Given the description of an element on the screen output the (x, y) to click on. 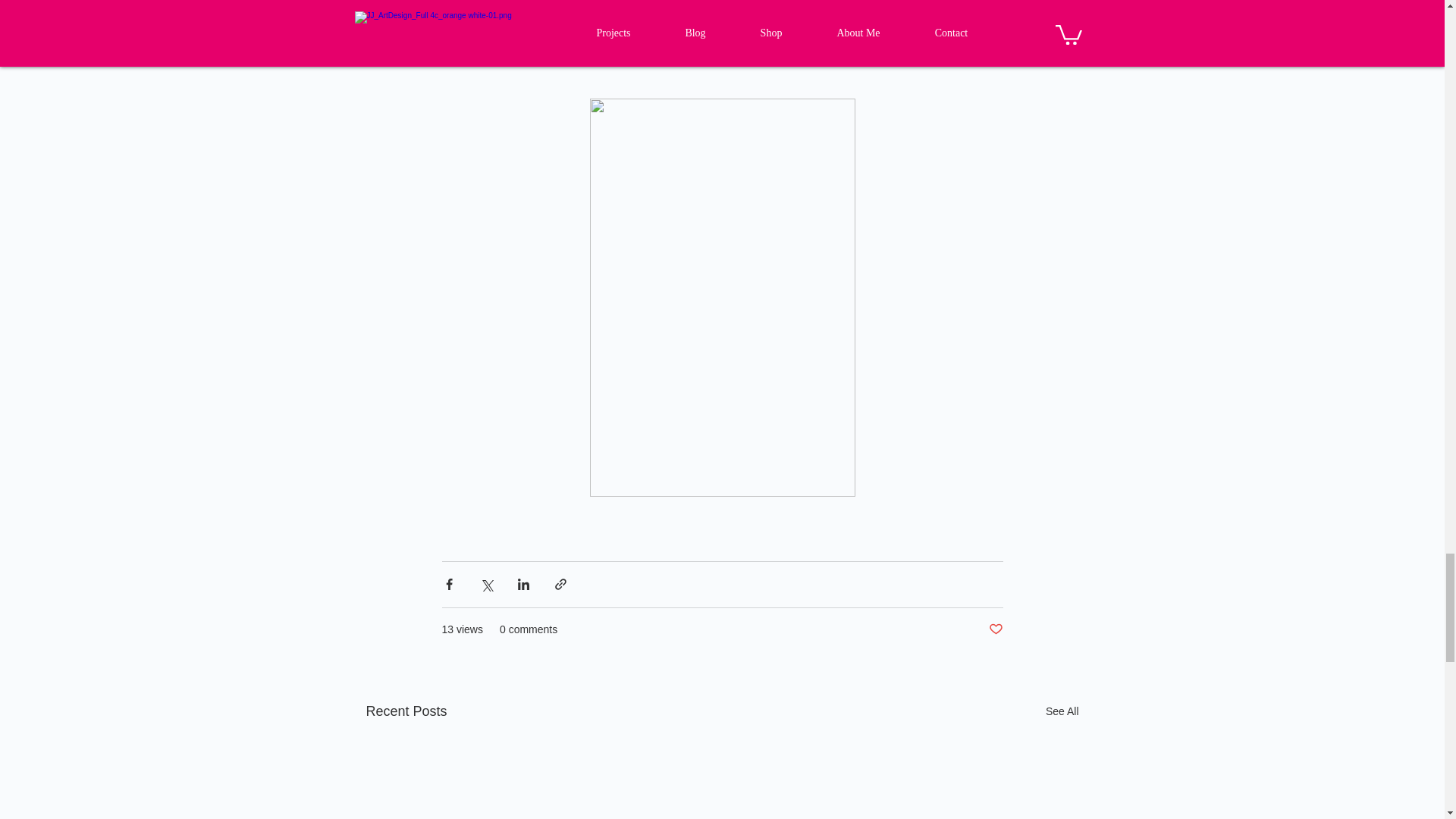
Post not marked as liked (995, 629)
See All (1061, 711)
